Given the description of an element on the screen output the (x, y) to click on. 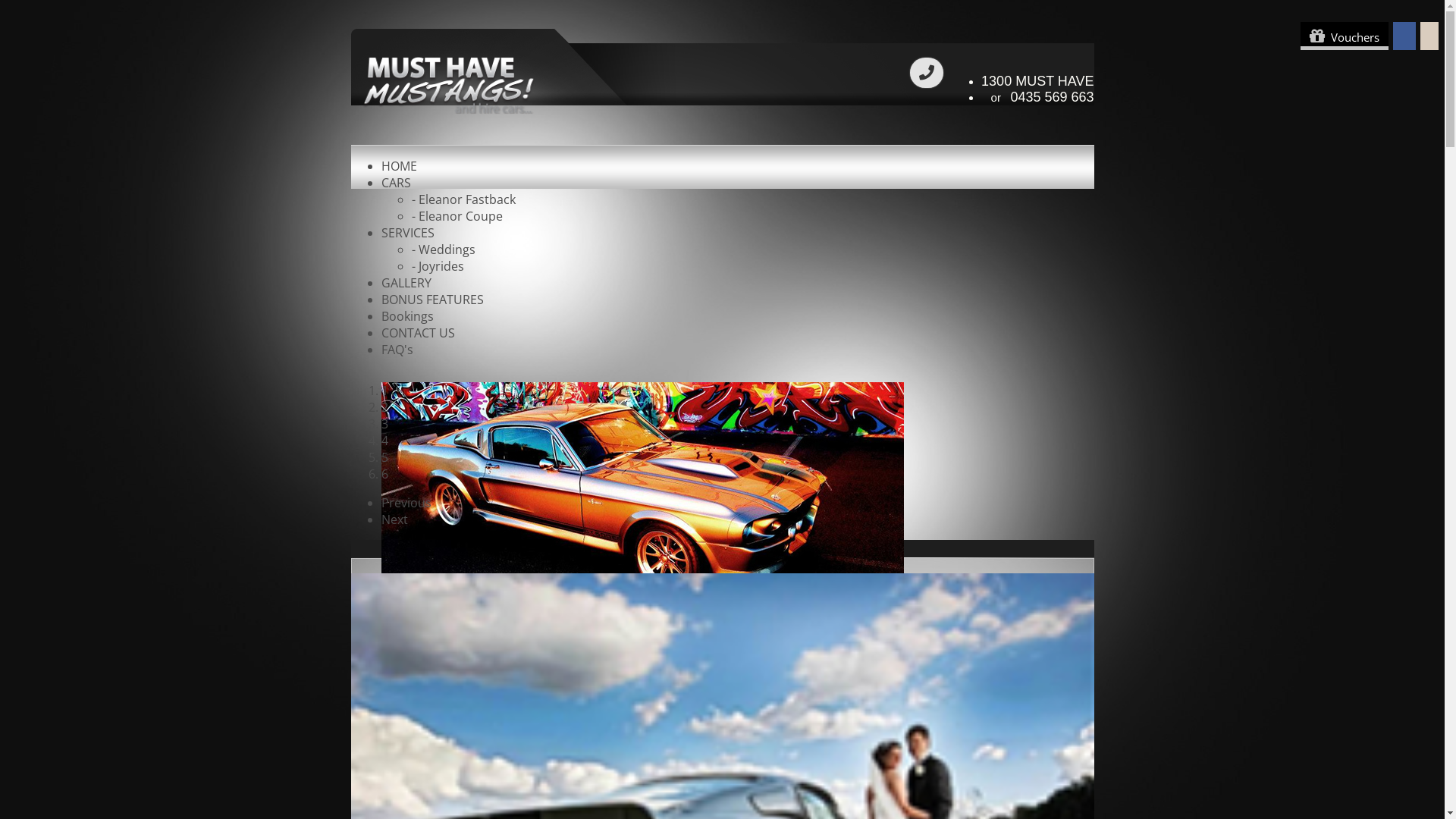
GALLERY Element type: text (405, 282)
CARS Element type: text (395, 182)
5 Element type: text (383, 456)
4 Element type: text (383, 440)
2 Element type: text (383, 406)
- Joyrides Element type: text (437, 265)
Bookings Element type: text (406, 315)
- Weddings Element type: text (442, 249)
1300 MUST HAVE Element type: text (1037, 80)
CONTACT US Element type: text (417, 332)
Previous Element type: text (405, 502)
1 Element type: text (383, 390)
0435 569 663 Element type: text (1051, 96)
6 Element type: text (383, 473)
FAQ's Element type: text (396, 349)
Next Element type: text (393, 519)
BONUS FEATURES Element type: text (431, 299)
- Eleanor Coupe Element type: text (456, 215)
SERVICES Element type: text (406, 232)
3 Element type: text (383, 423)
- Eleanor Fastback Element type: text (462, 199)
Vouchers Element type: text (1344, 35)
HOME Element type: text (398, 165)
